Given the description of an element on the screen output the (x, y) to click on. 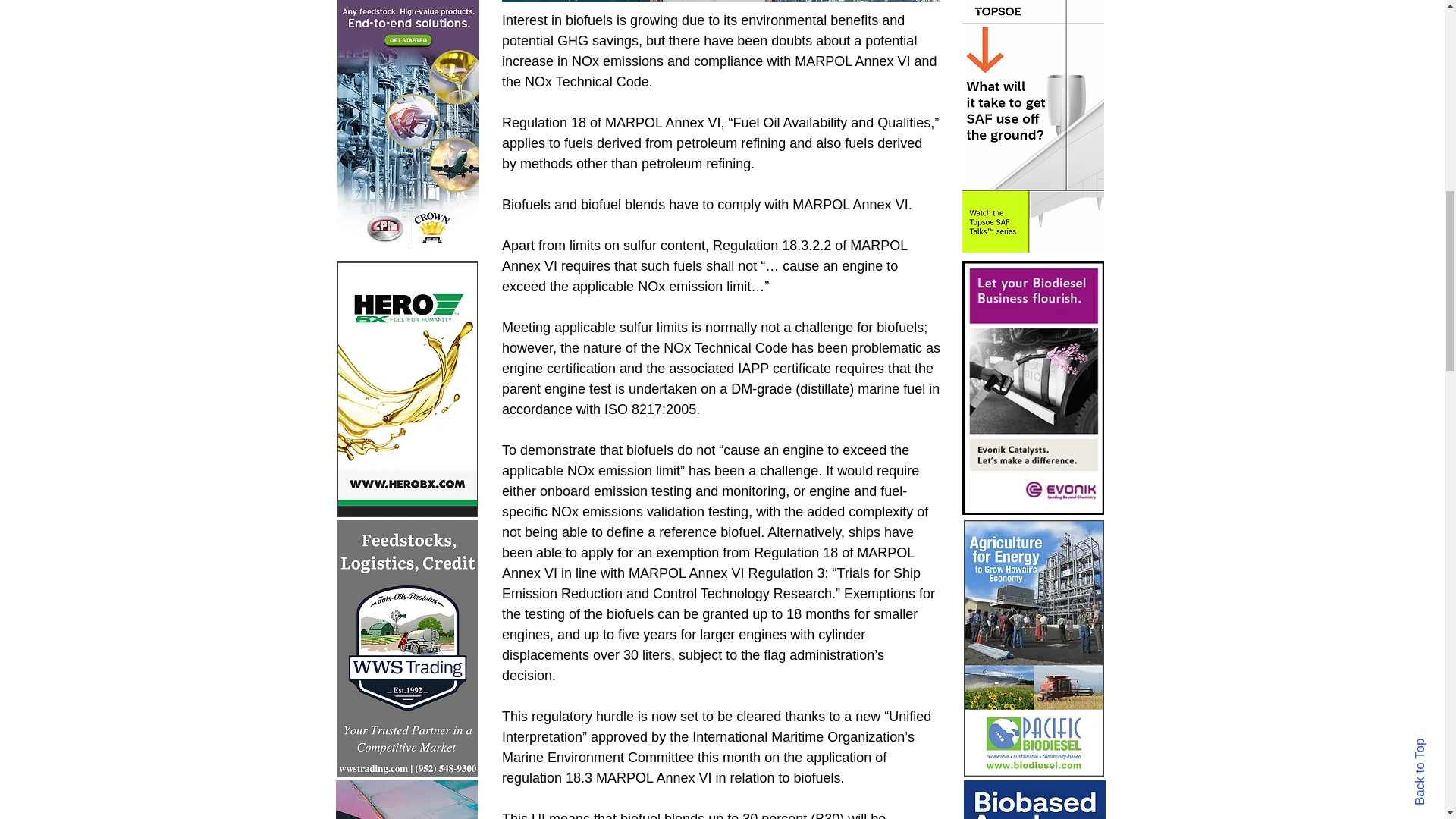
WWS Trading (406, 648)
Topsoe (1031, 126)
Fuel for Humanity (406, 388)
Pacific Biodiesel Technologies (1032, 648)
